Given the description of an element on the screen output the (x, y) to click on. 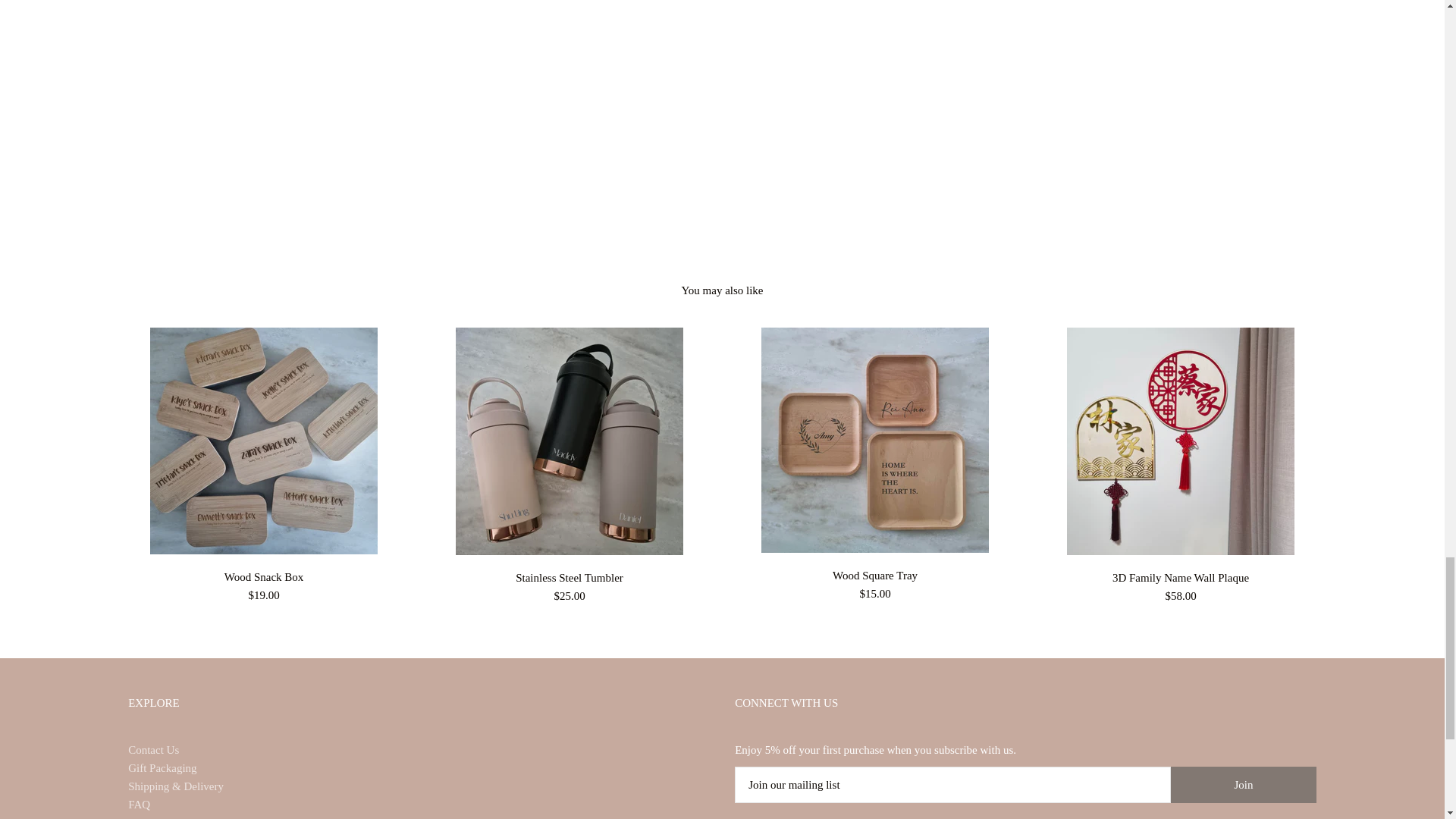
Join (1243, 784)
